Given the description of an element on the screen output the (x, y) to click on. 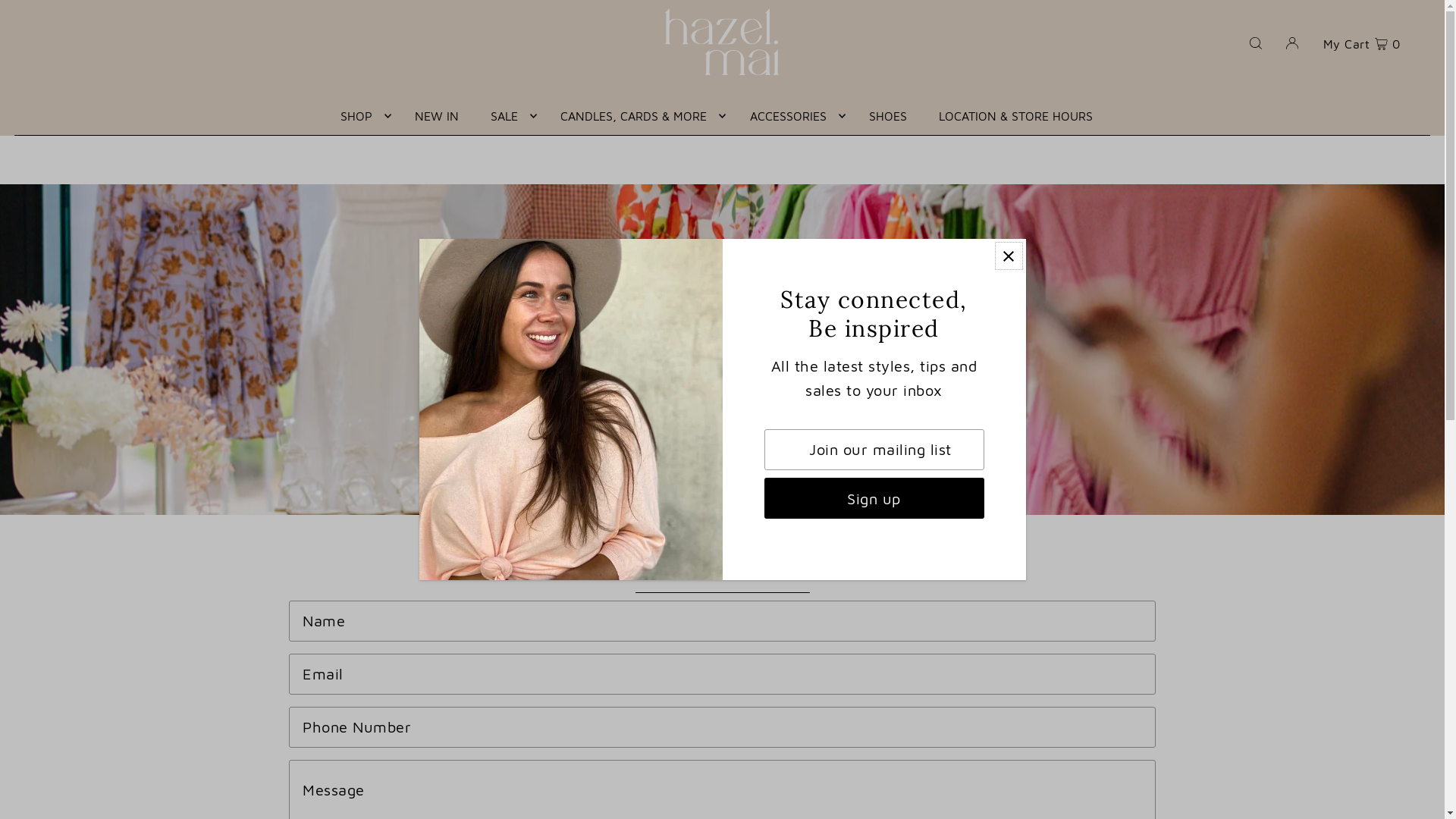
LOCATION & STORE HOURS Element type: text (1015, 115)
Sign up Element type: text (874, 497)
CANDLES, CARDS & MORE Element type: text (638, 115)
NEW IN Element type: text (436, 115)
Close popup Element type: hover (1007, 255)
ACCESSORIES Element type: text (793, 115)
SHOP Element type: text (361, 115)
SALE Element type: text (509, 115)
SHOES Element type: text (887, 115)
